Given the description of an element on the screen output the (x, y) to click on. 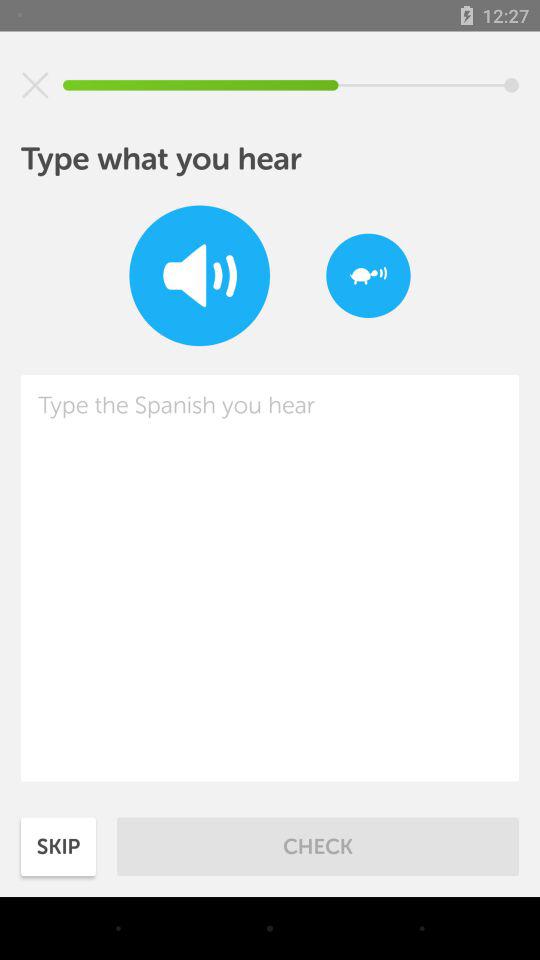
choose the icon to the left of check item (58, 846)
